Given the description of an element on the screen output the (x, y) to click on. 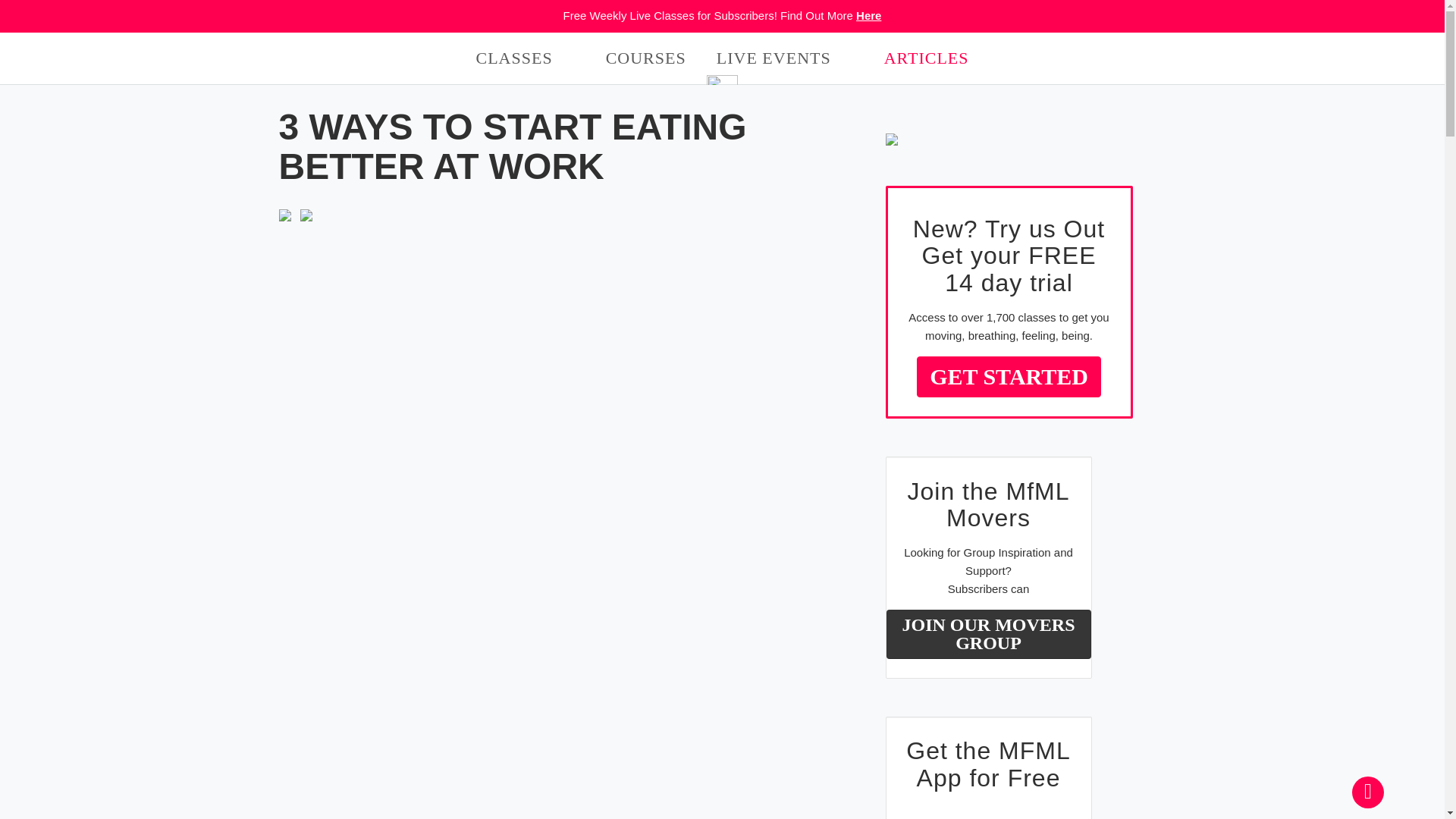
LIVE EVENTS (773, 57)
Share on Twitter (306, 214)
CLASSES (514, 57)
Share on Facebook (285, 214)
Here (868, 15)
ARTICLES (926, 57)
COURSES (645, 57)
Share on Linkedin (571, 417)
